Given the description of an element on the screen output the (x, y) to click on. 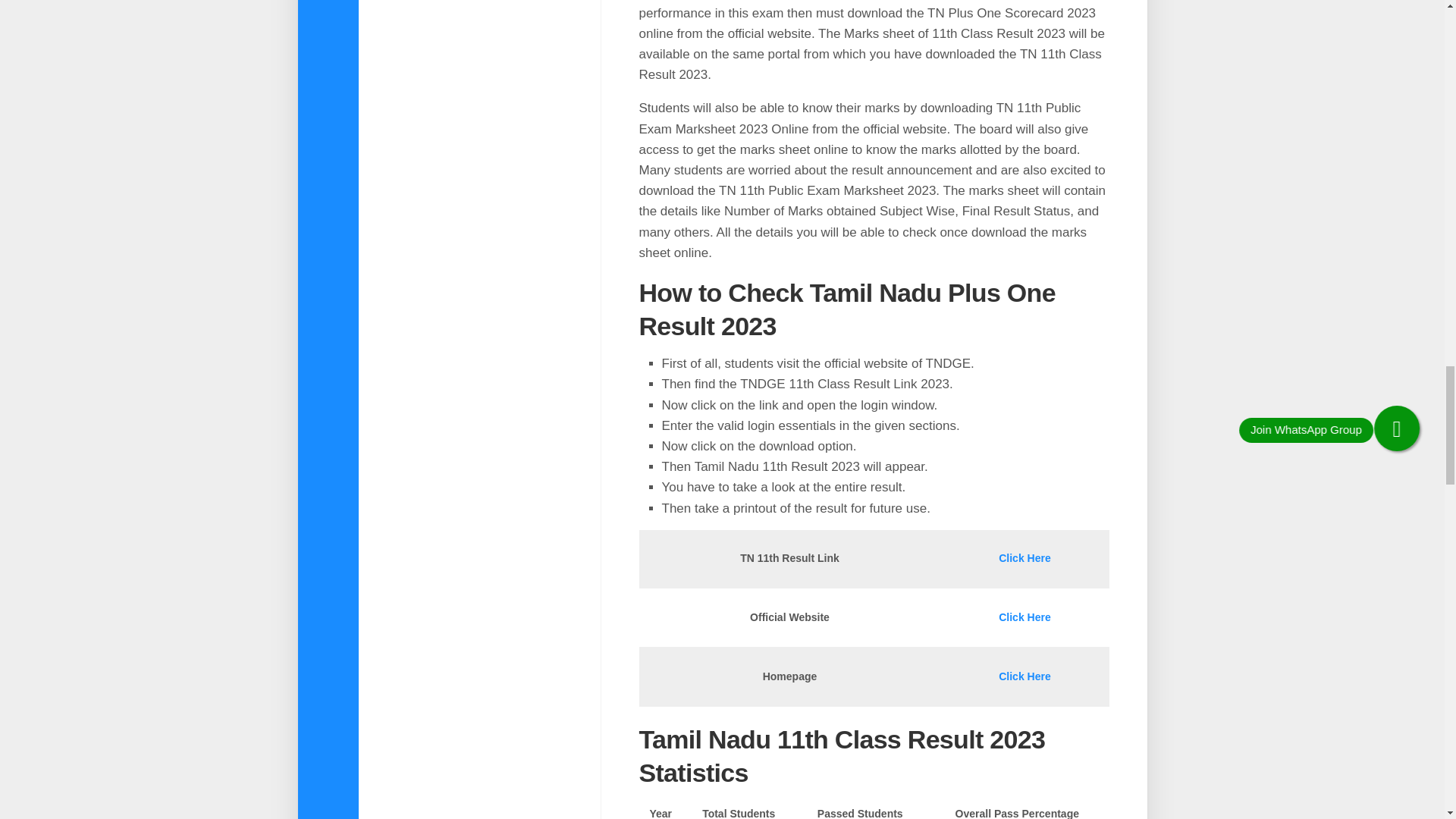
Click Here (1023, 558)
Click Here (1023, 676)
Click Here (1023, 616)
